Given the description of an element on the screen output the (x, y) to click on. 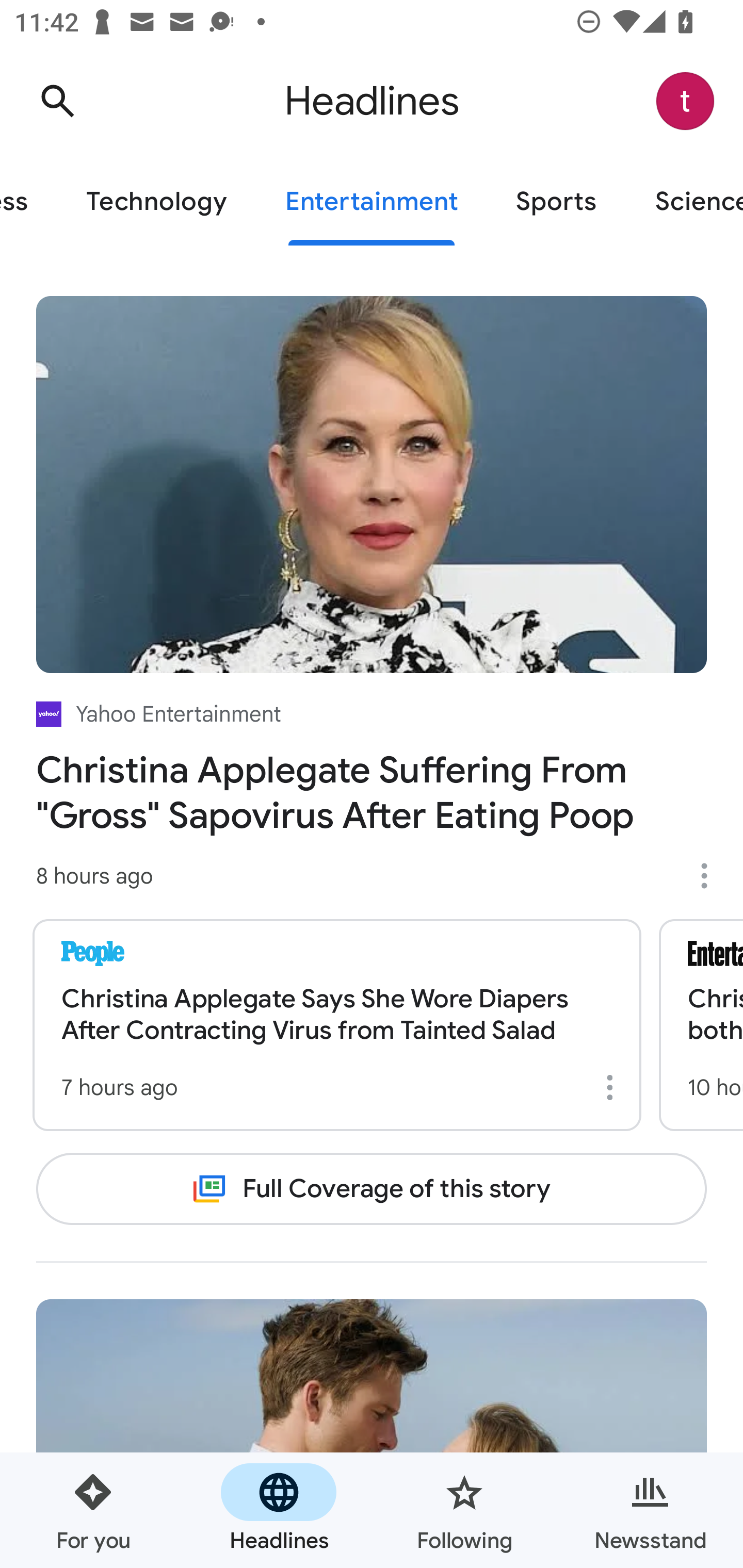
Search (57, 100)
Technology (155, 202)
Sports (556, 202)
Science (684, 202)
More options (711, 875)
More options (613, 1086)
Full Coverage of this story (371, 1188)
For you (92, 1509)
Headlines (278, 1509)
Following (464, 1509)
Newsstand (650, 1509)
